Given the description of an element on the screen output the (x, y) to click on. 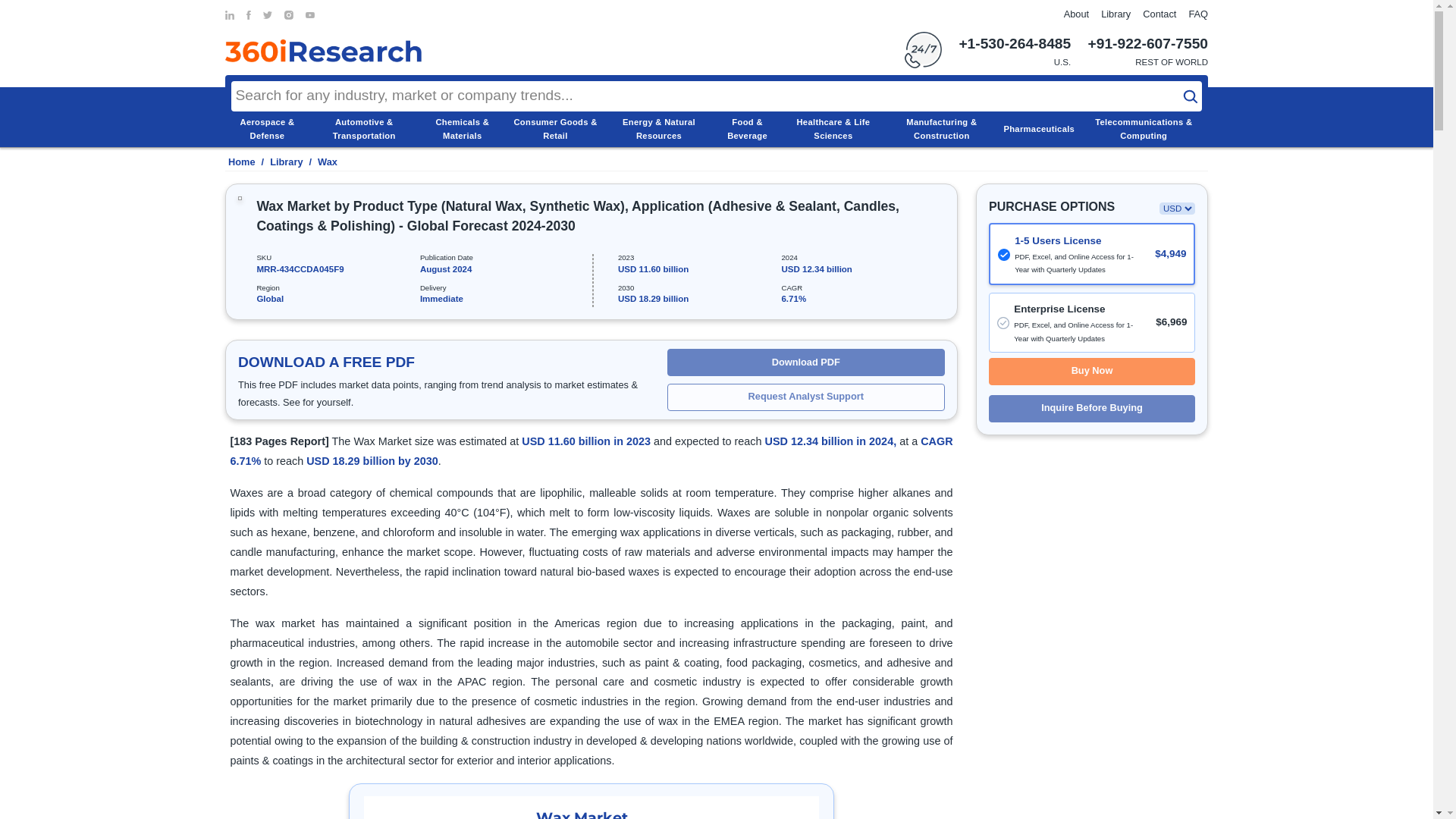
Library (1115, 13)
Download PDF (805, 361)
360iResearch Linkedin (229, 14)
Contact (1159, 13)
Contact (1159, 13)
360iResearch Twitter (267, 14)
Home (240, 161)
FAQ (1198, 13)
Request Analyst Support (805, 397)
Wax Market (591, 807)
